Given the description of an element on the screen output the (x, y) to click on. 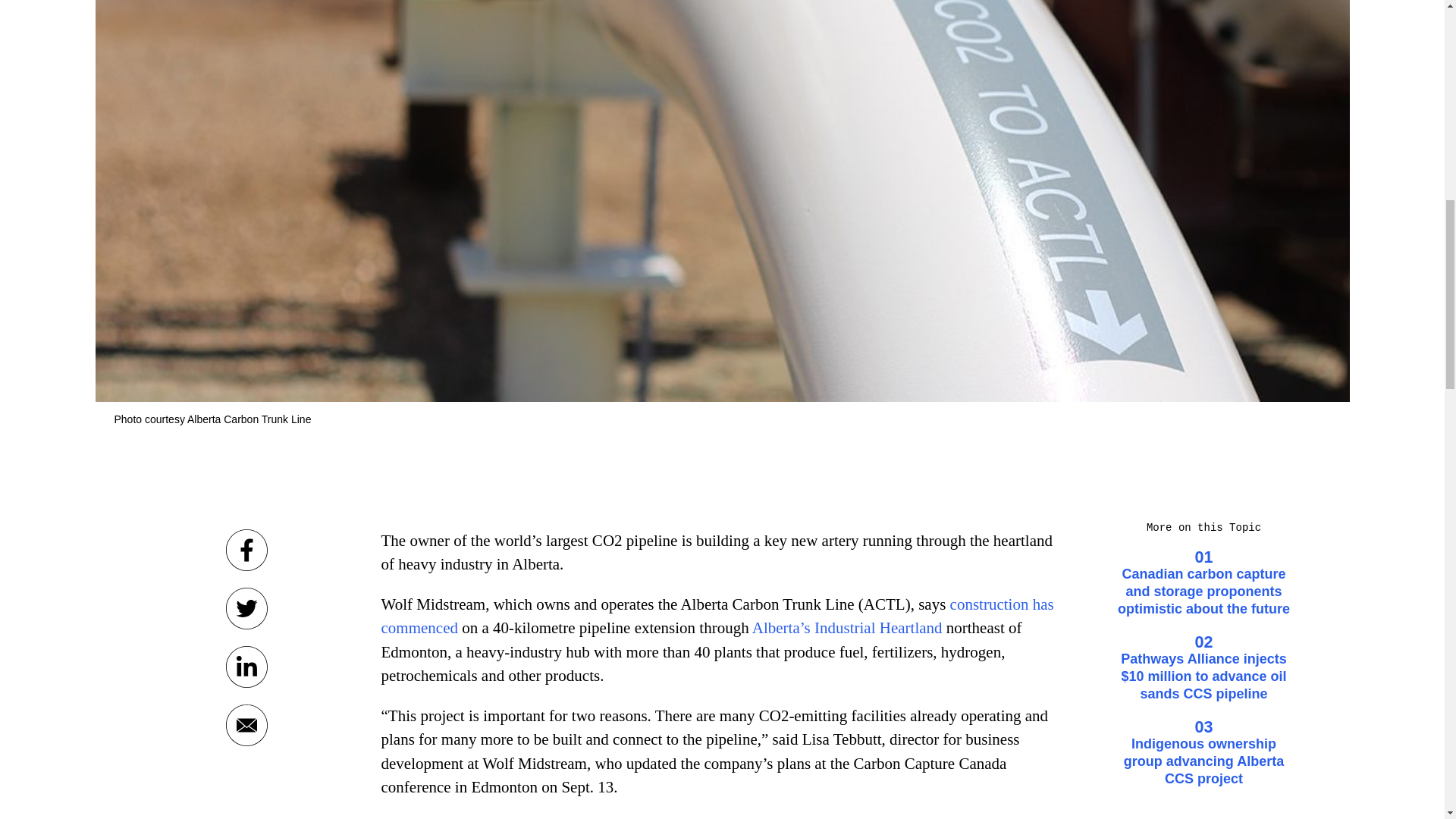
construction has commenced (716, 616)
